Given the description of an element on the screen output the (x, y) to click on. 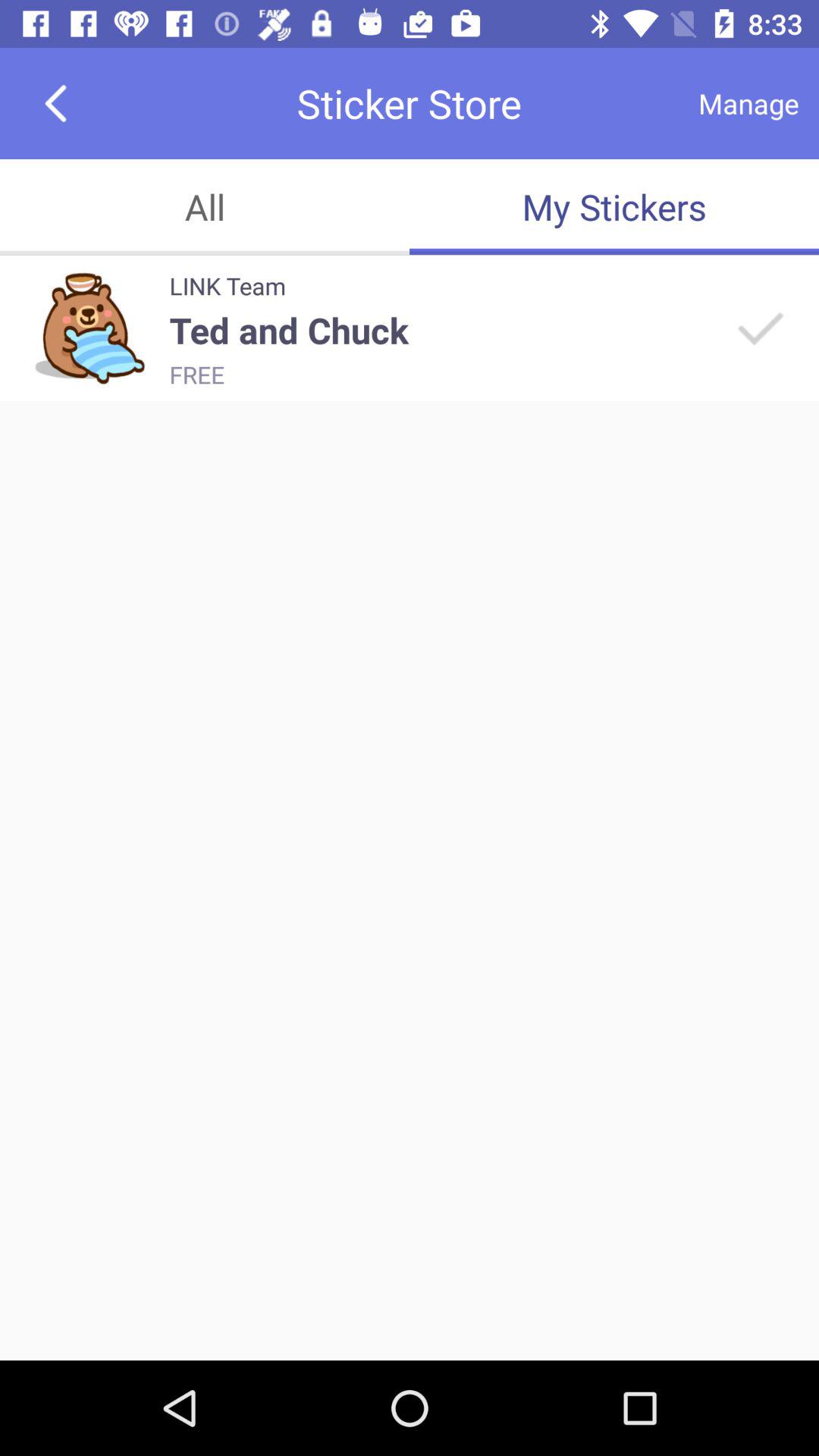
jump to all (204, 206)
